Given the description of an element on the screen output the (x, y) to click on. 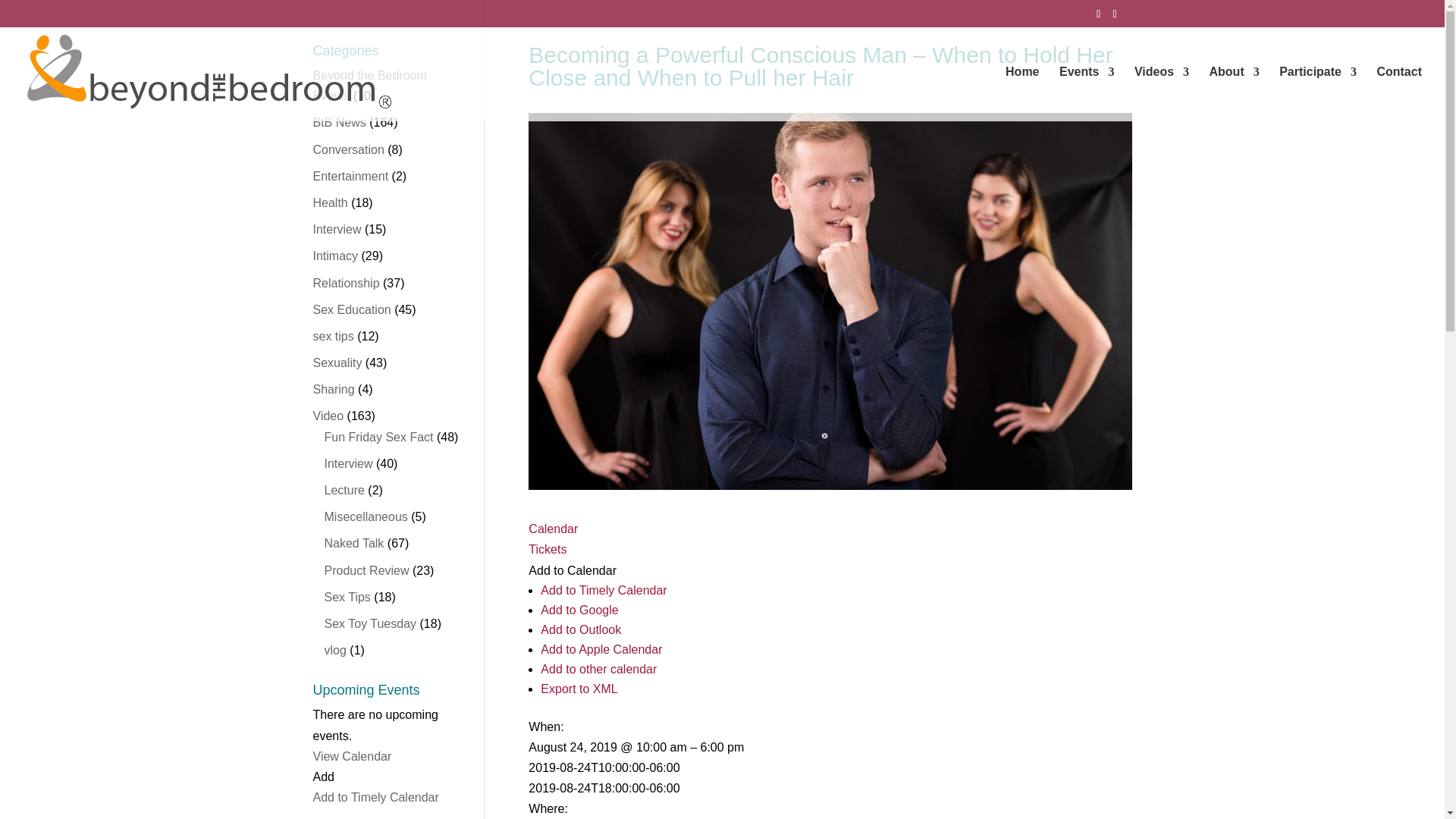
About (1234, 93)
Subscribe to this calendar in MS Outlook (580, 629)
Tickets (547, 549)
Videos (1161, 93)
Subscribe to this calendar in your Google Calendar (578, 609)
Events (1086, 93)
Participate (1317, 93)
Subscribe to this calendar in another plain-text calendar (598, 668)
View all events (553, 528)
